Given the description of an element on the screen output the (x, y) to click on. 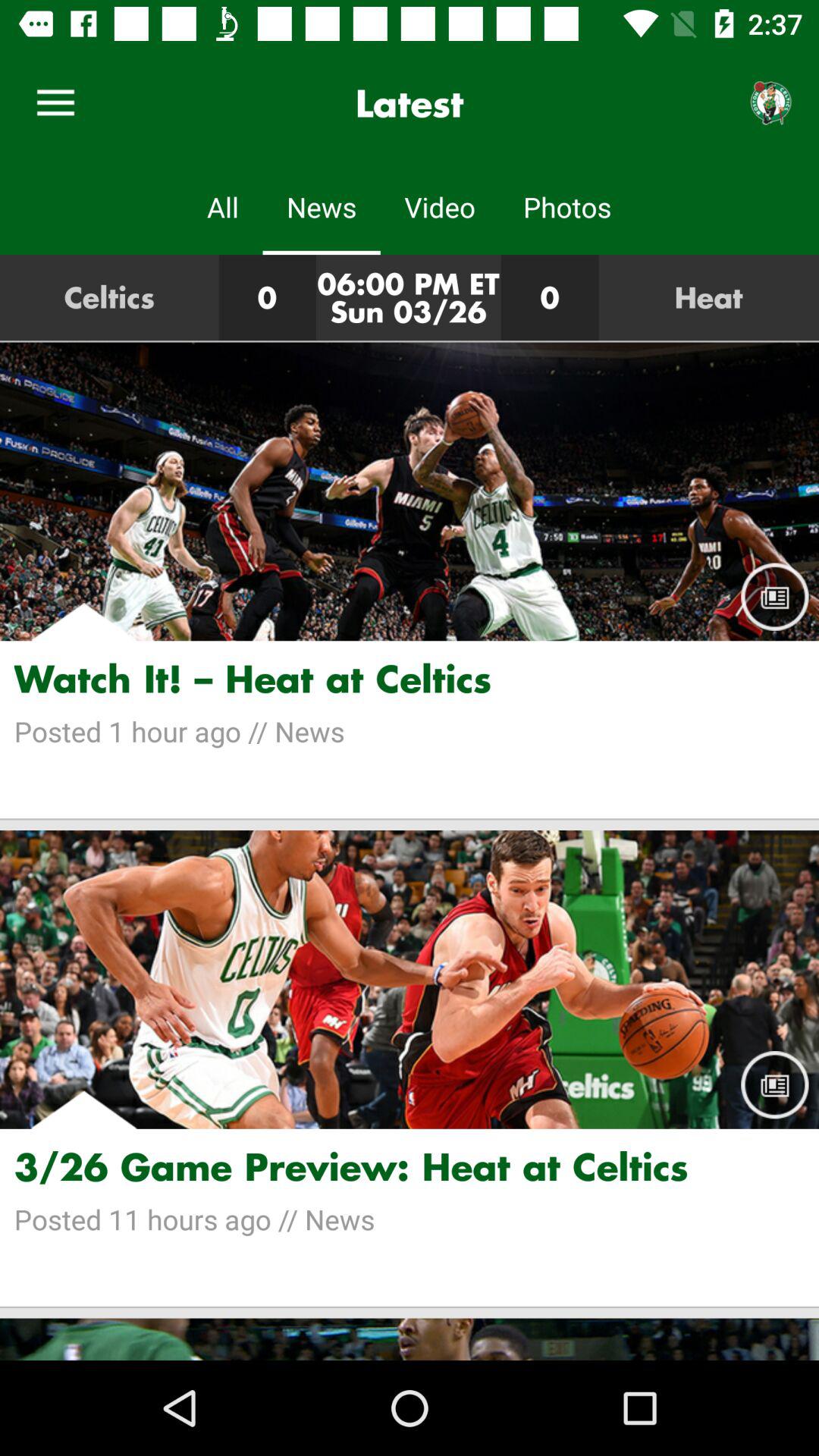
jump until the watch it heat icon (409, 678)
